Given the description of an element on the screen output the (x, y) to click on. 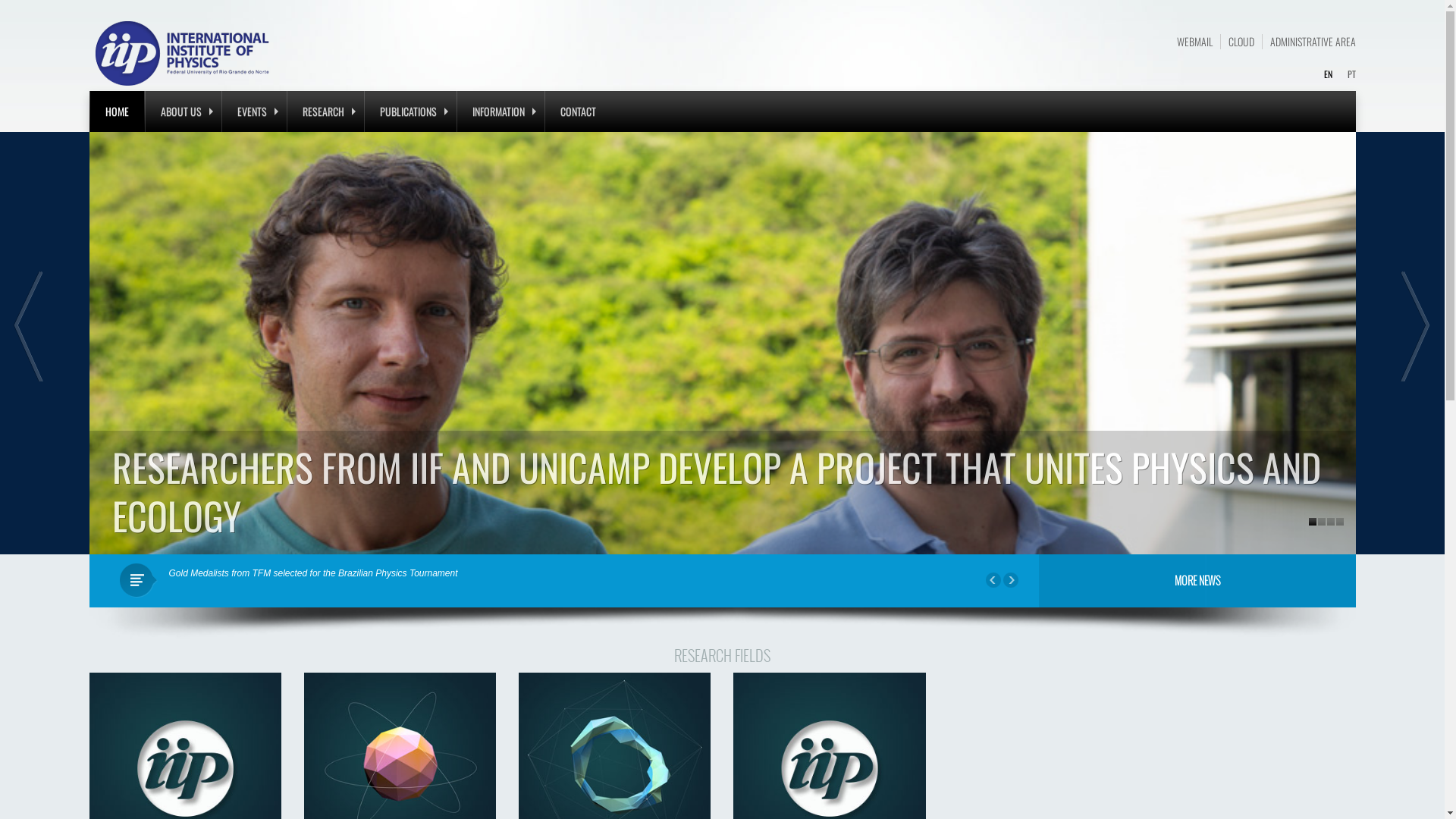
PUBLICATIONS Element type: text (409, 111)
ABOUT US Element type: text (182, 111)
Prev Element type: text (30, 326)
1 Element type: text (1312, 521)
Previous Element type: hover (993, 579)
4 Element type: text (1339, 521)
Next Element type: text (1413, 326)
ADMINISTRATIVE AREA Element type: text (1312, 41)
HOME Element type: text (116, 111)
EN Element type: text (1327, 73)
WEBMAIL Element type: text (1194, 41)
PT Element type: text (1350, 73)
Next Element type: hover (1010, 579)
3 Element type: text (1330, 521)
EVENTS Element type: text (253, 111)
INFORMATION Element type: text (499, 111)
CLOUD Element type: text (1241, 41)
CONTACT Element type: text (577, 111)
2 Element type: text (1321, 521)
RESEARCH Element type: text (324, 111)
MORE NEWS Element type: text (1196, 580)
